Given the description of an element on the screen output the (x, y) to click on. 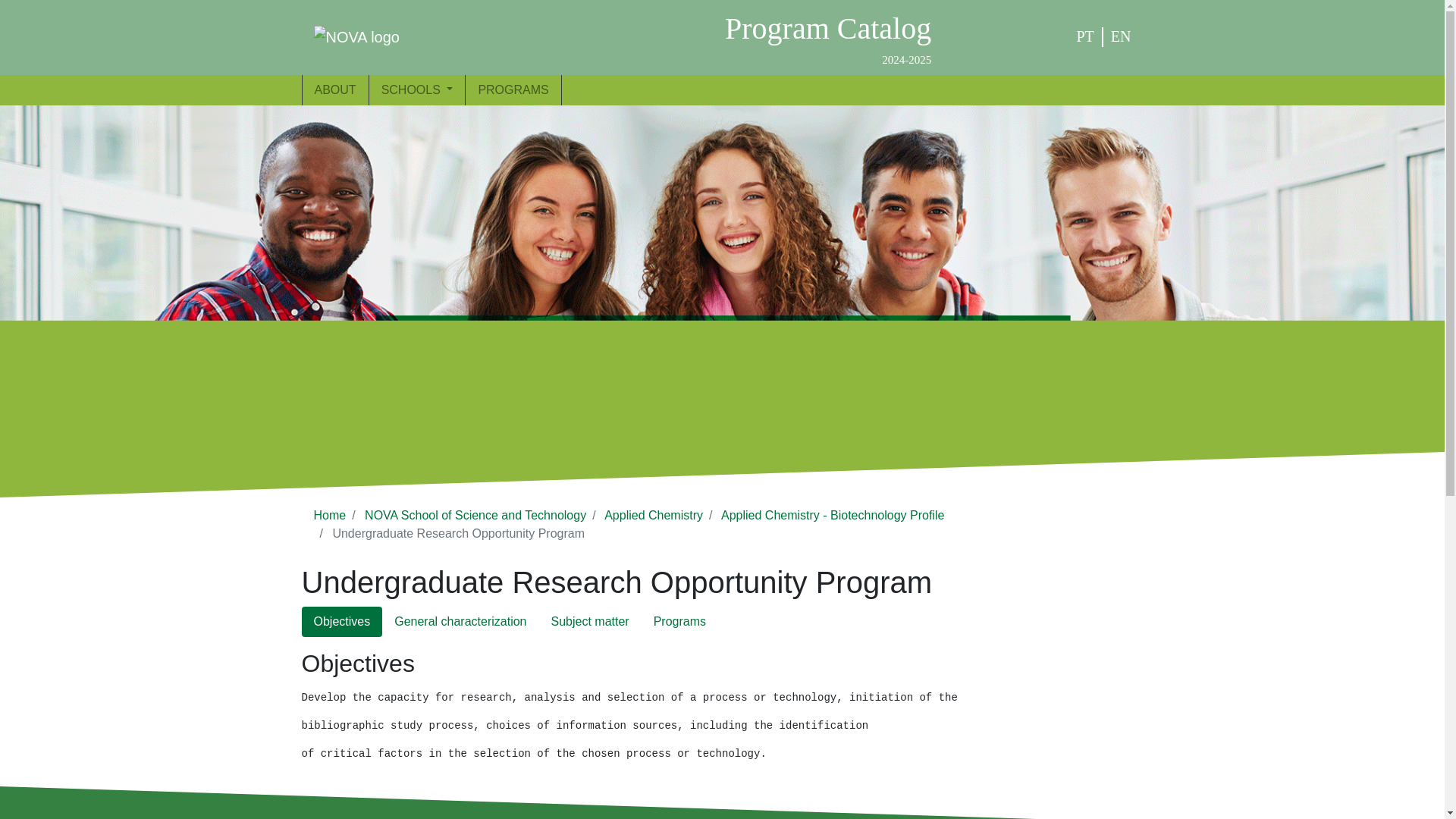
Applied Chemistry - Biotechnology Profile (831, 514)
Applied Chemistry (653, 514)
Subject matter (590, 621)
Skip to main content (5, 5)
PROGRAMS (512, 89)
Programs (828, 36)
Home (679, 621)
NOVA School of Science and Technology (330, 514)
ABOUT (475, 514)
